Given the description of an element on the screen output the (x, y) to click on. 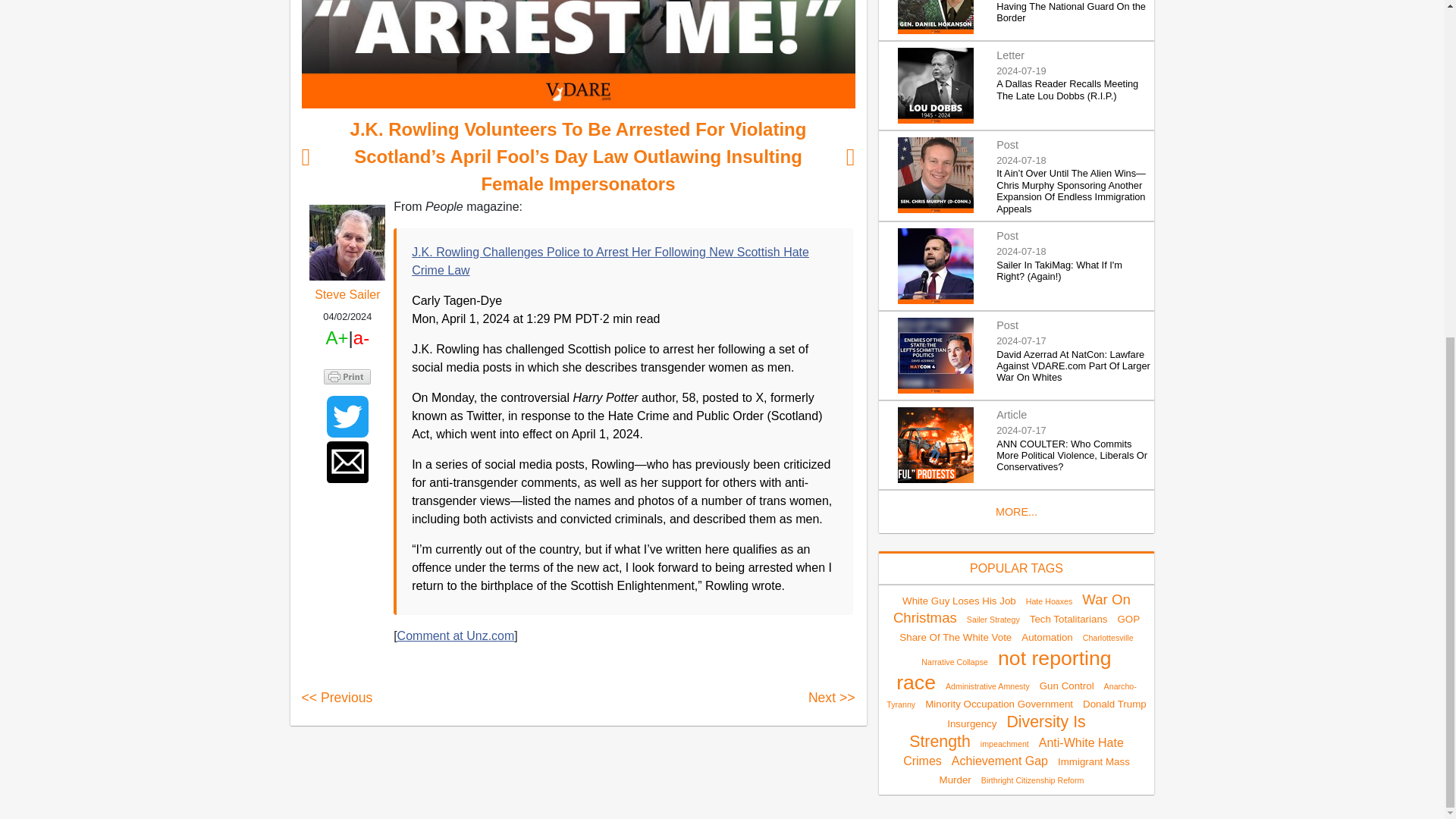
Printer Friendly and PDF (347, 375)
Share to Twitter (347, 416)
Share to Email (347, 462)
